Given the description of an element on the screen output the (x, y) to click on. 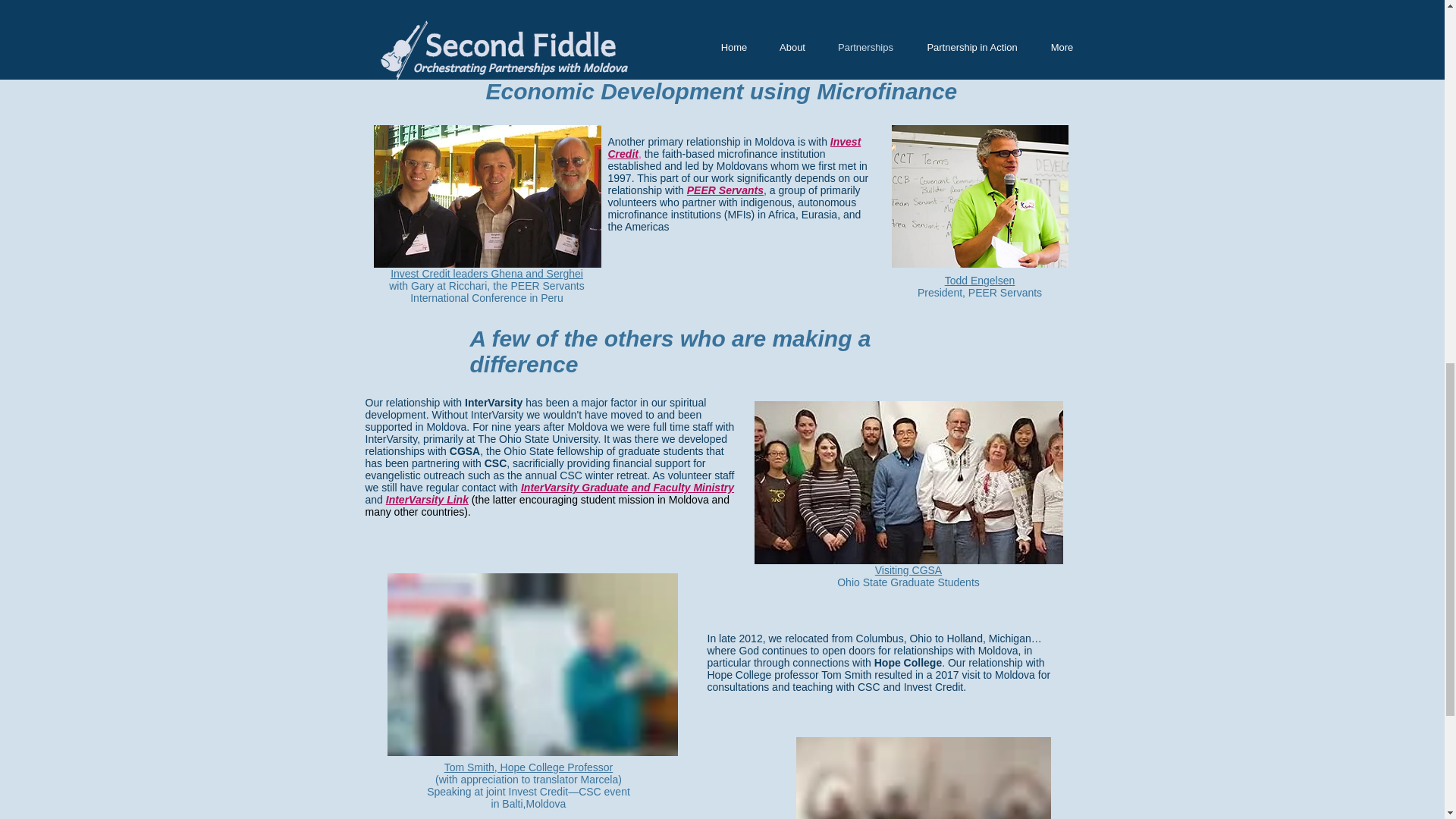
PEER Servants (724, 190)
InterVarsity Graduate and Faculty Ministry (627, 487)
InterVarsity Link (426, 499)
Invest Credit (734, 147)
